Given the description of an element on the screen output the (x, y) to click on. 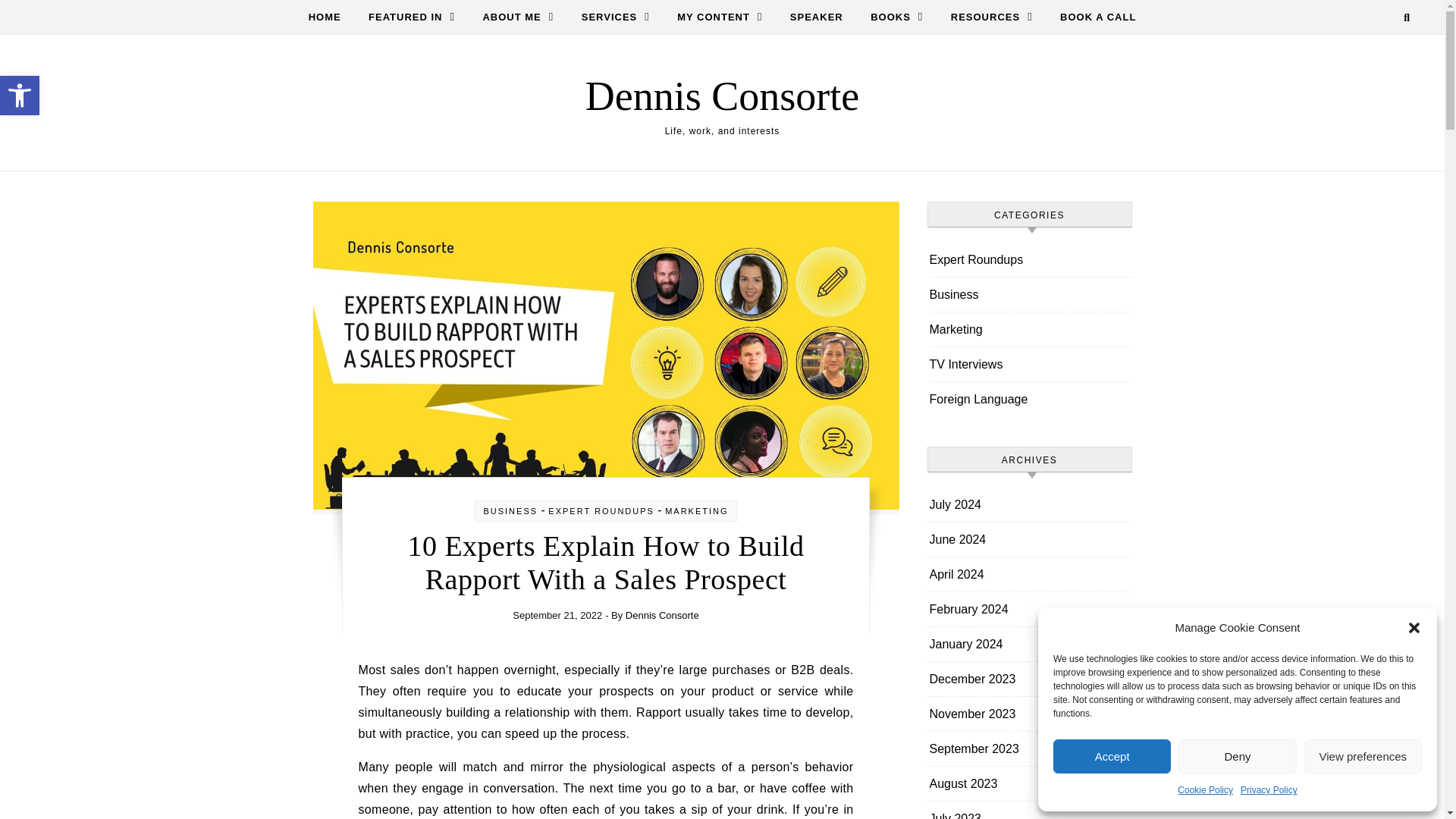
Cookie Policy (1205, 790)
Accessibility Tools (19, 95)
SERVICES (19, 95)
Accept (615, 17)
Deny (1111, 756)
Privacy Policy (1236, 756)
Accessibility Tools (1268, 790)
HOME (19, 95)
Posts by Dennis Consorte (330, 17)
